Given the description of an element on the screen output the (x, y) to click on. 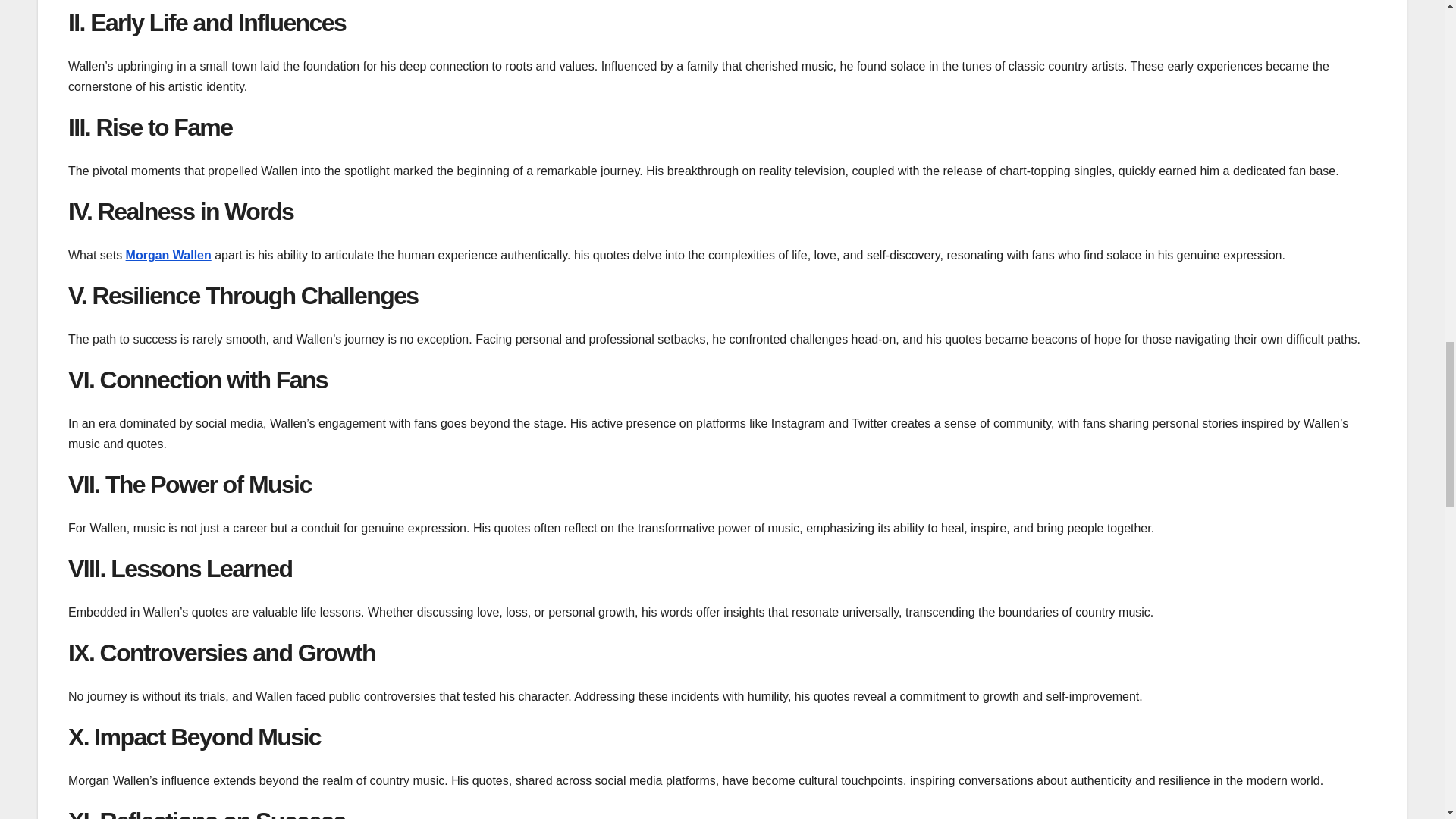
Morgan Wallen (168, 254)
